Given the description of an element on the screen output the (x, y) to click on. 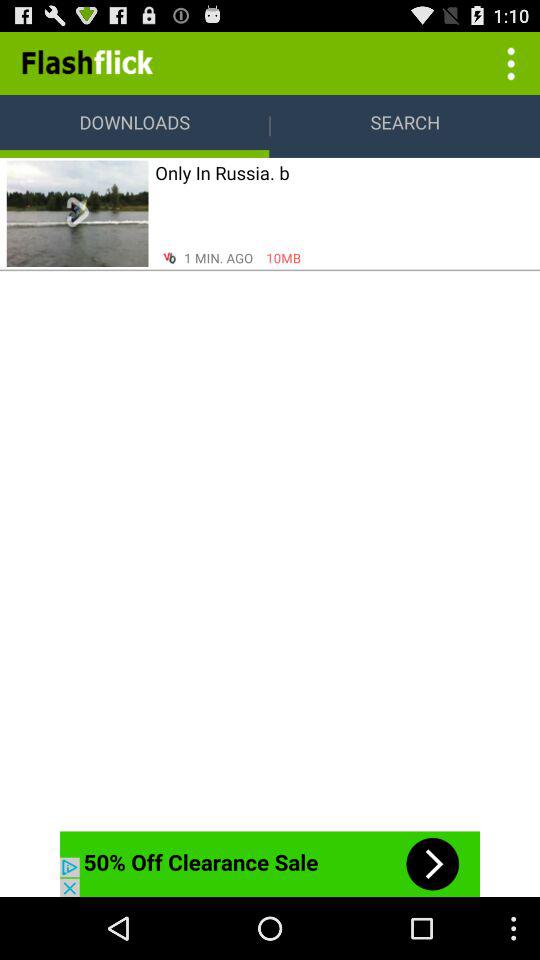
go to advertiser site (270, 864)
